Given the description of an element on the screen output the (x, y) to click on. 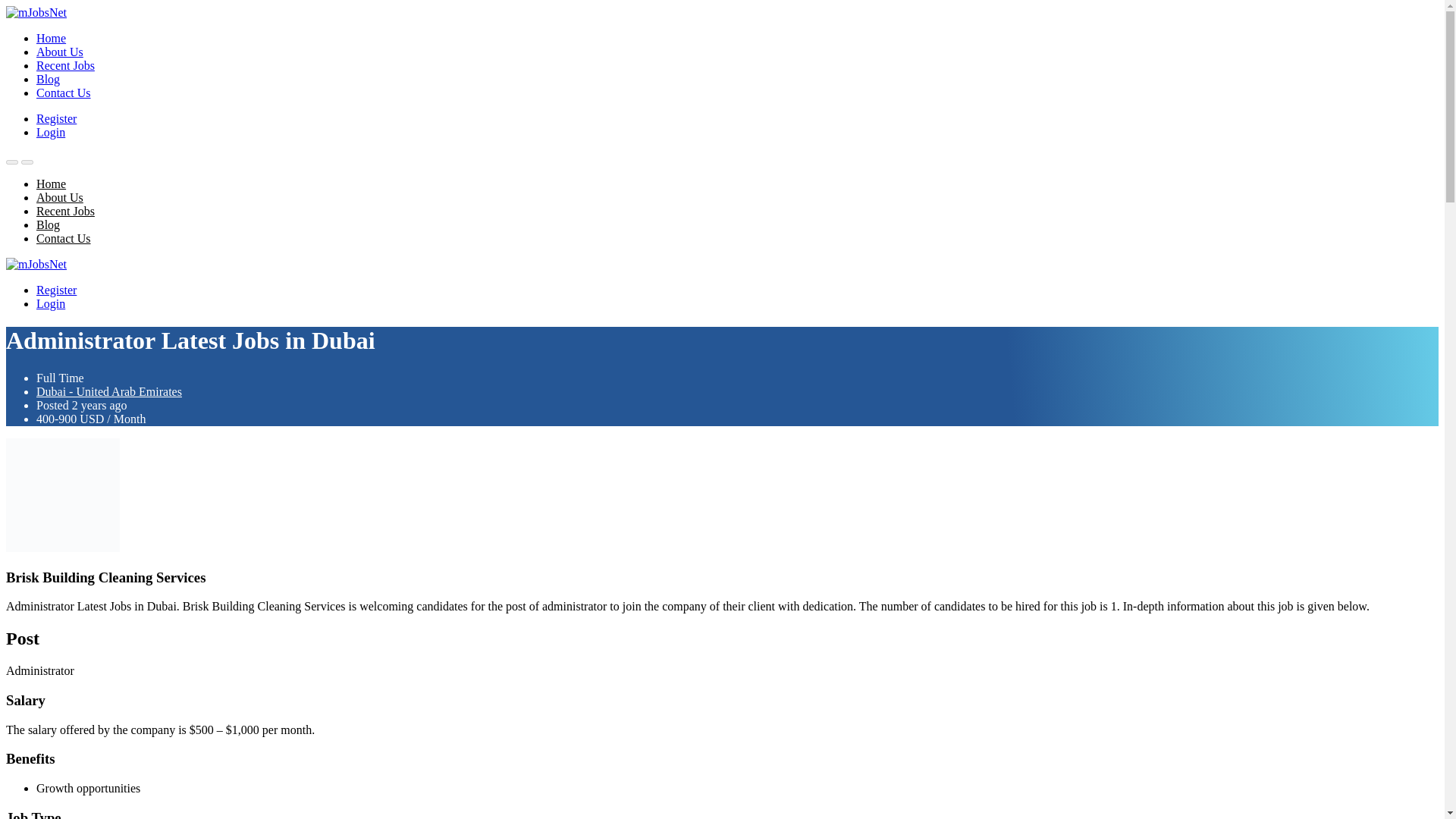
Login (50, 132)
Home (50, 183)
Blog (47, 224)
Login (50, 303)
About Us (59, 51)
Home (50, 38)
Dubai - United Arab Emirates (109, 391)
Contact Us (63, 237)
Recent Jobs (65, 210)
Blog (47, 78)
